Given the description of an element on the screen output the (x, y) to click on. 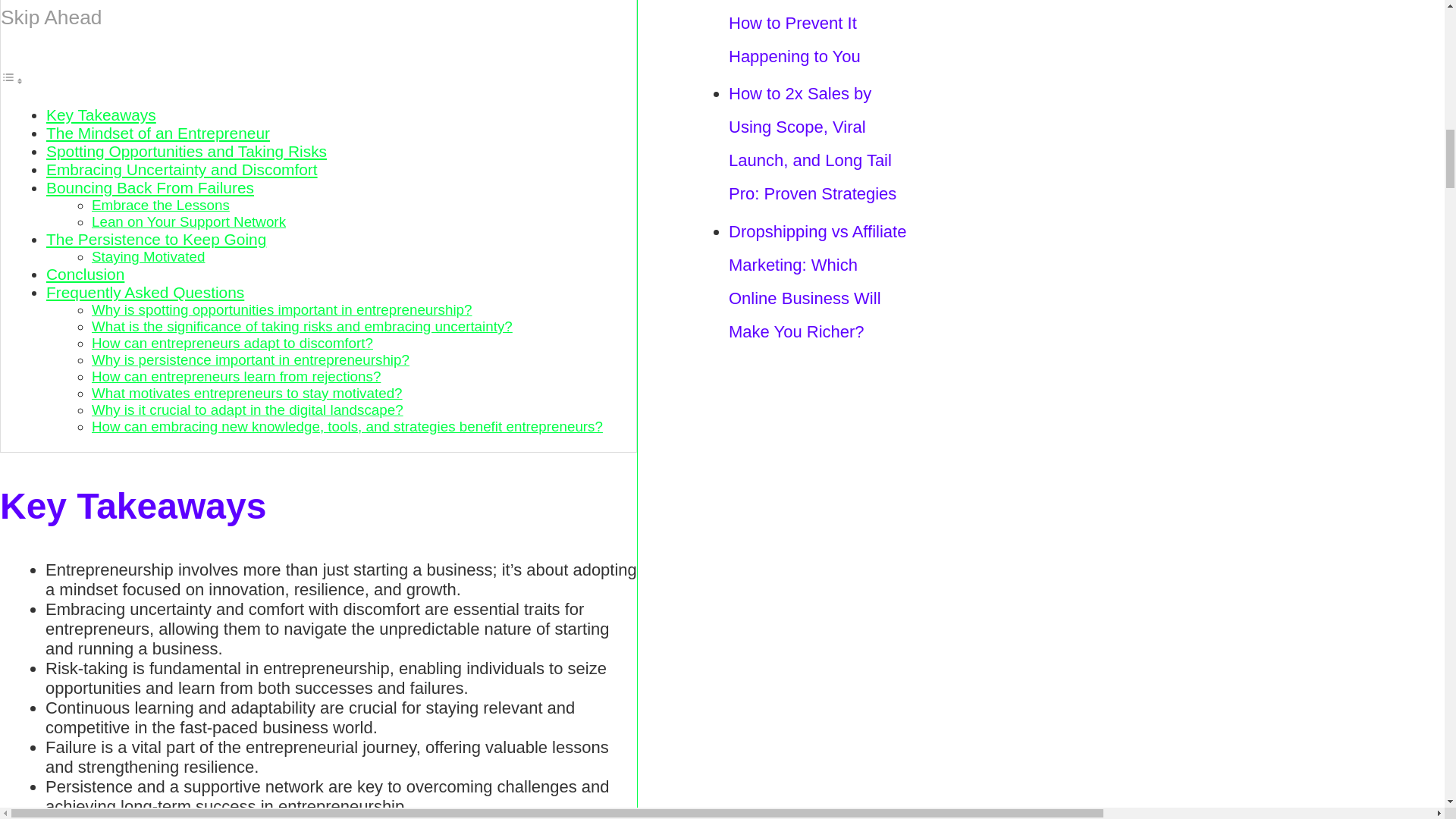
Bouncing Back From Failures (149, 187)
Key Takeaways (100, 114)
Bouncing Back From Failures (149, 187)
Spotting Opportunities and Taking Risks (186, 150)
Lean on Your Support Network (188, 221)
Key Takeaways (100, 114)
Embracing Uncertainty and Discomfort (181, 169)
Why is spotting opportunities important in entrepreneurship? (281, 309)
Staying Motivated (148, 256)
Frequently Asked Questions (145, 292)
The Mindset of an Entrepreneur (157, 132)
Embracing Uncertainty and Discomfort (181, 169)
Lean on Your Support Network (188, 221)
The Mindset of an Entrepreneur (157, 132)
Spotting Opportunities and Taking Risks (186, 150)
